Given the description of an element on the screen output the (x, y) to click on. 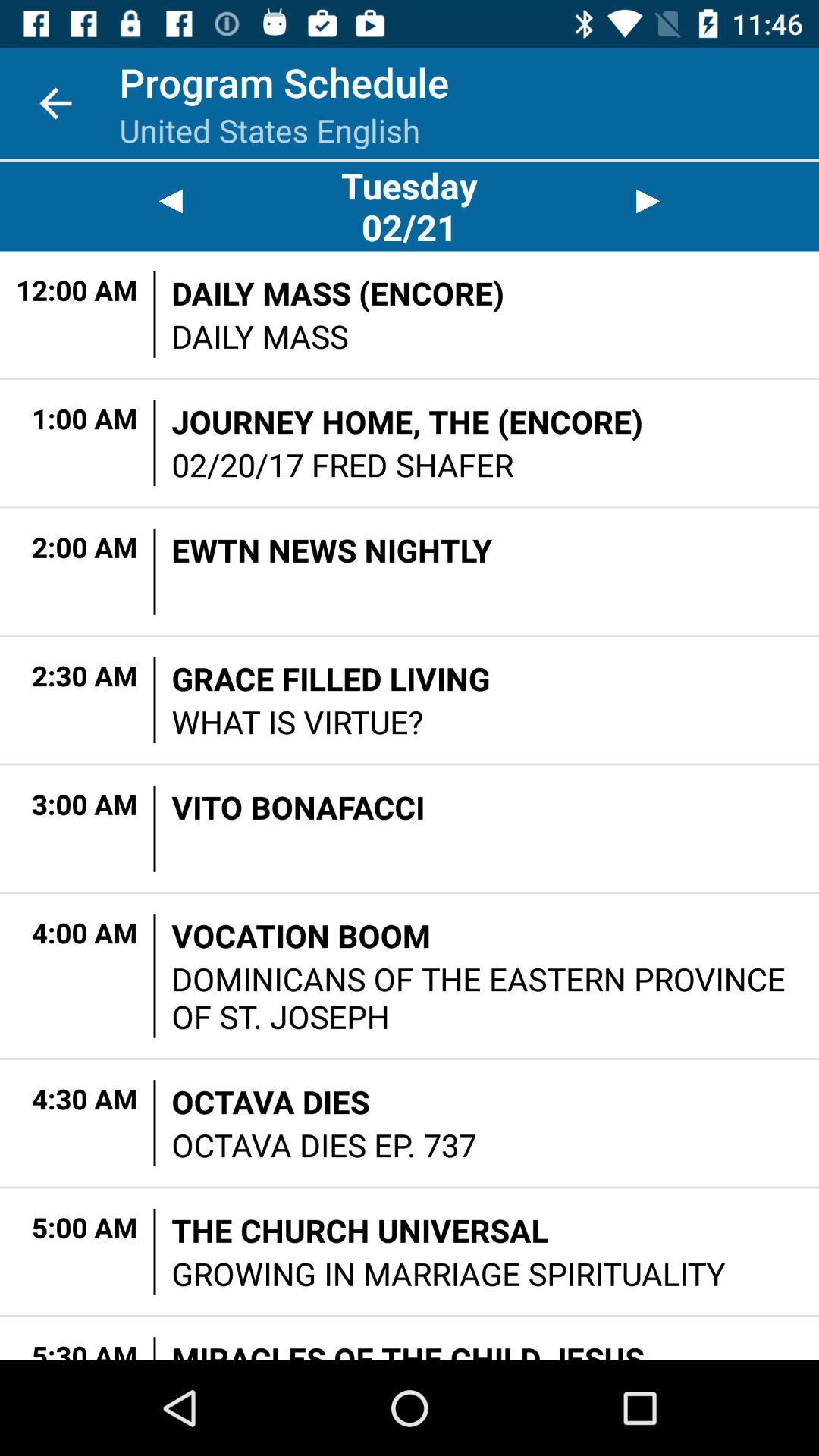
turn on the app to the left of program schedule item (55, 103)
